Given the description of an element on the screen output the (x, y) to click on. 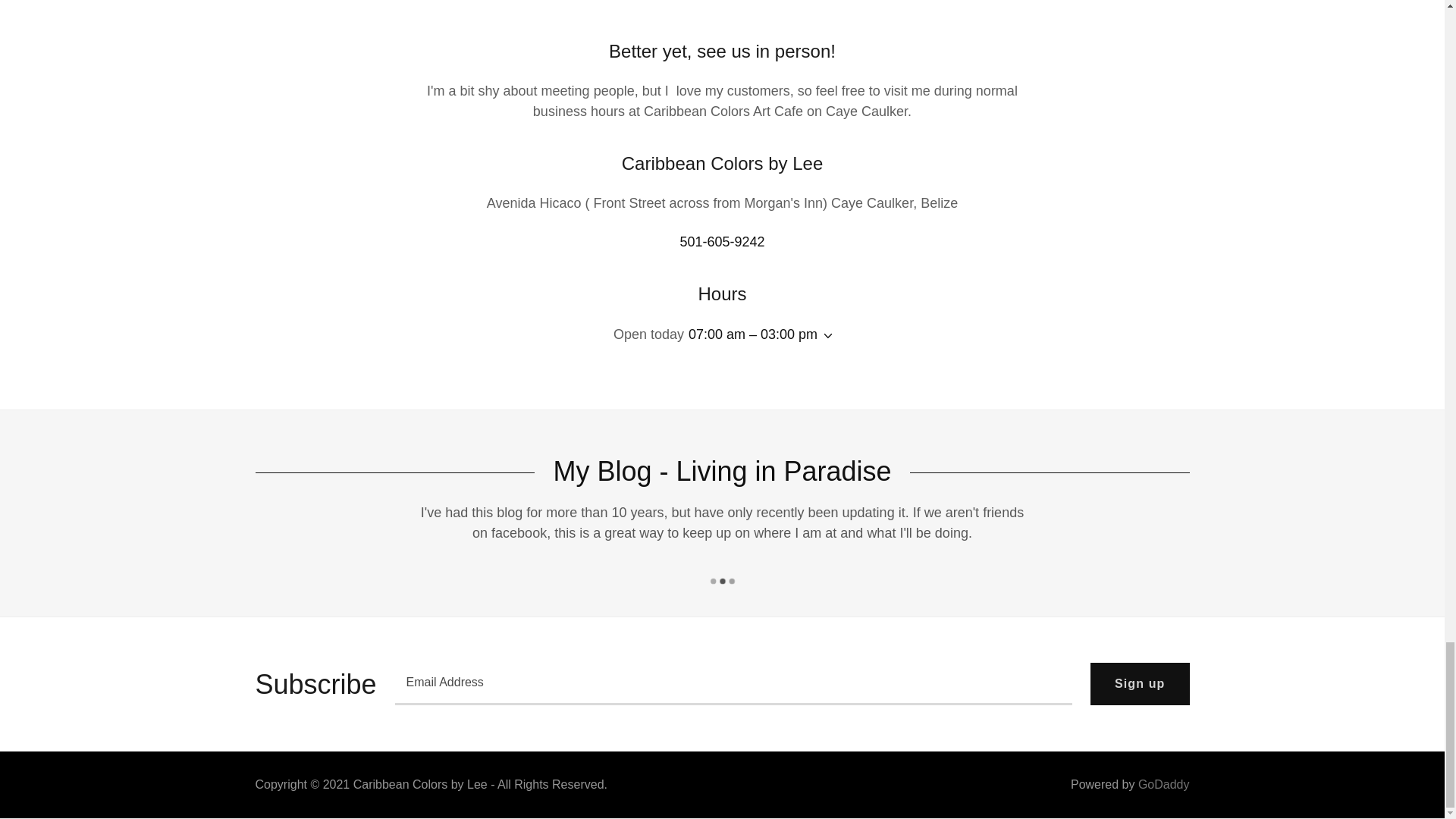
Sign up (1139, 683)
501-605-9242 (721, 241)
